Given the description of an element on the screen output the (x, y) to click on. 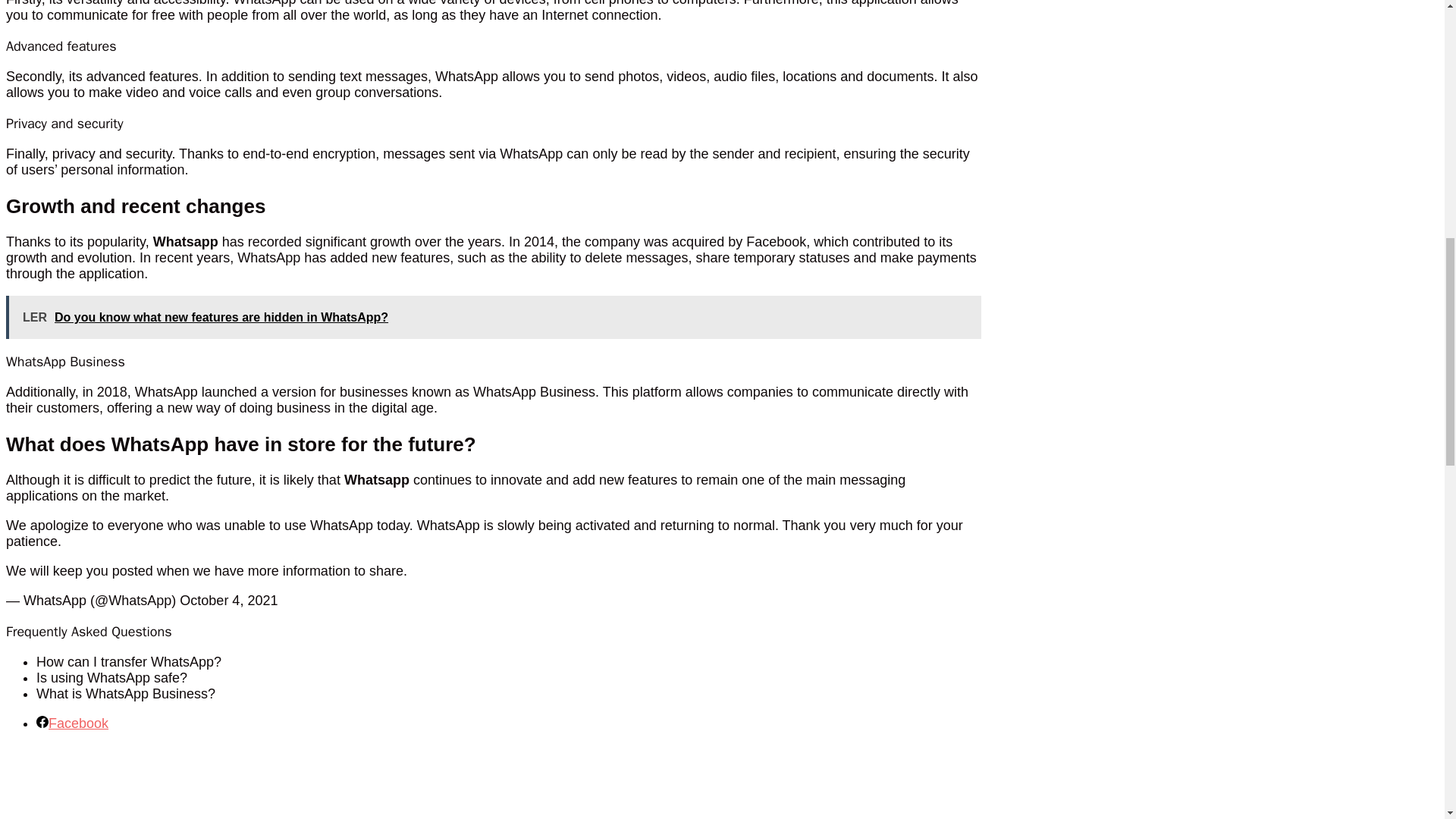
Facebook (71, 723)
LER  Do you know what new features are hidden in WhatsApp? (493, 317)
Share on Facebook (71, 723)
